Given the description of an element on the screen output the (x, y) to click on. 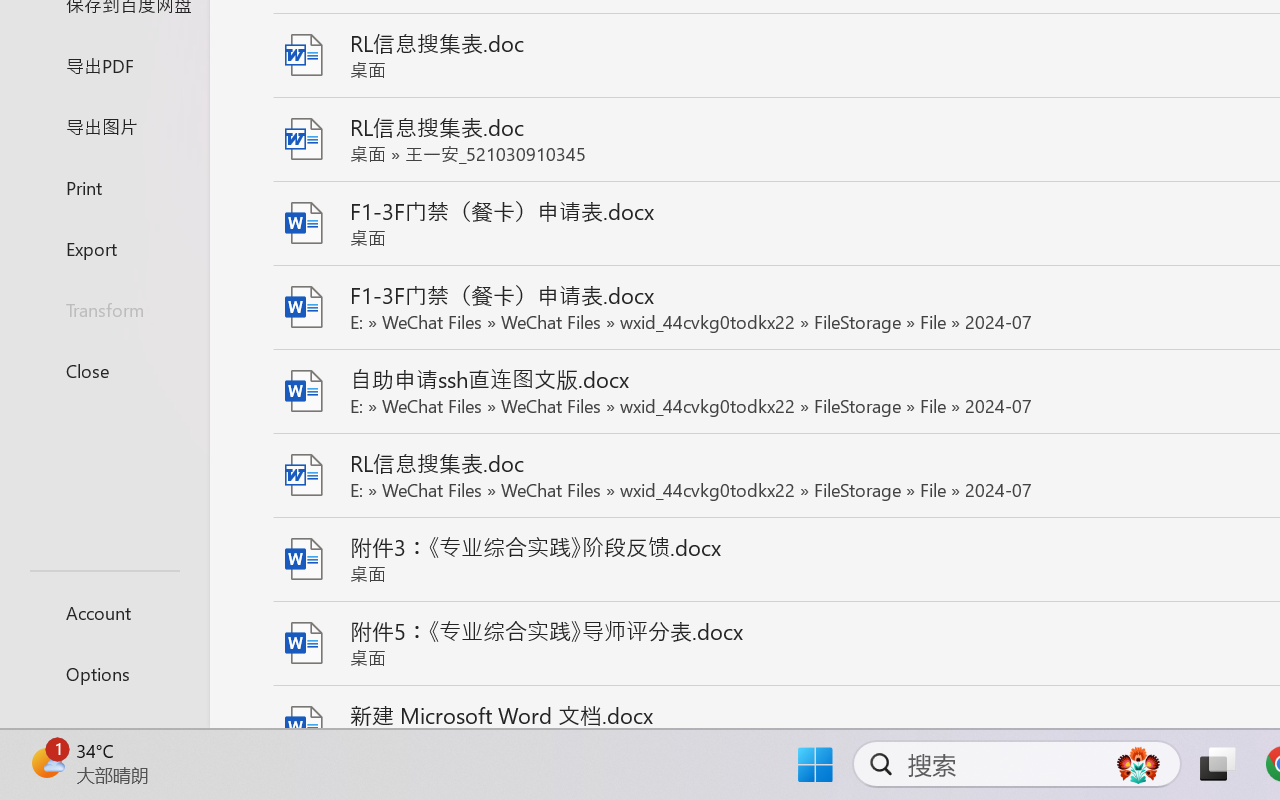
Options (104, 673)
Export (104, 248)
Close (104, 370)
AutomationID: DynamicSearchBoxGleamImage (1138, 764)
Transform (104, 309)
Print (104, 186)
Account (104, 612)
AutomationID: BadgeAnchorLargeTicker (46, 762)
